Given the description of an element on the screen output the (x, y) to click on. 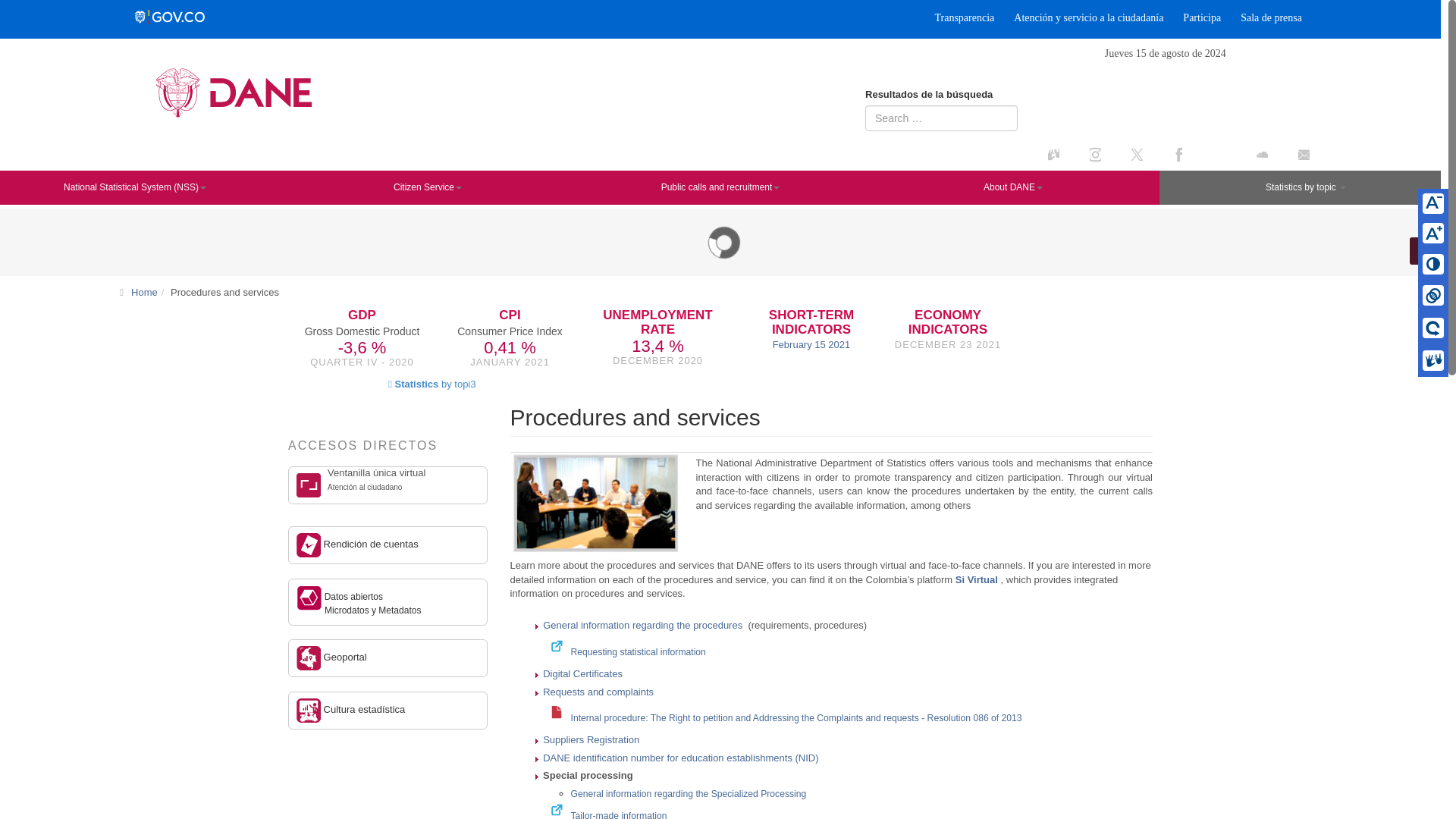
Servicios al ciudadano (594, 503)
facebook (1192, 152)
Transparencia (964, 17)
correo dane (1312, 159)
Citizen Service (427, 187)
twitter (1144, 152)
February 15 2021 (811, 344)
SHORT-TERM INDICATORS (810, 322)
Sala de prensa (1270, 17)
Participa (1201, 17)
